Given the description of an element on the screen output the (x, y) to click on. 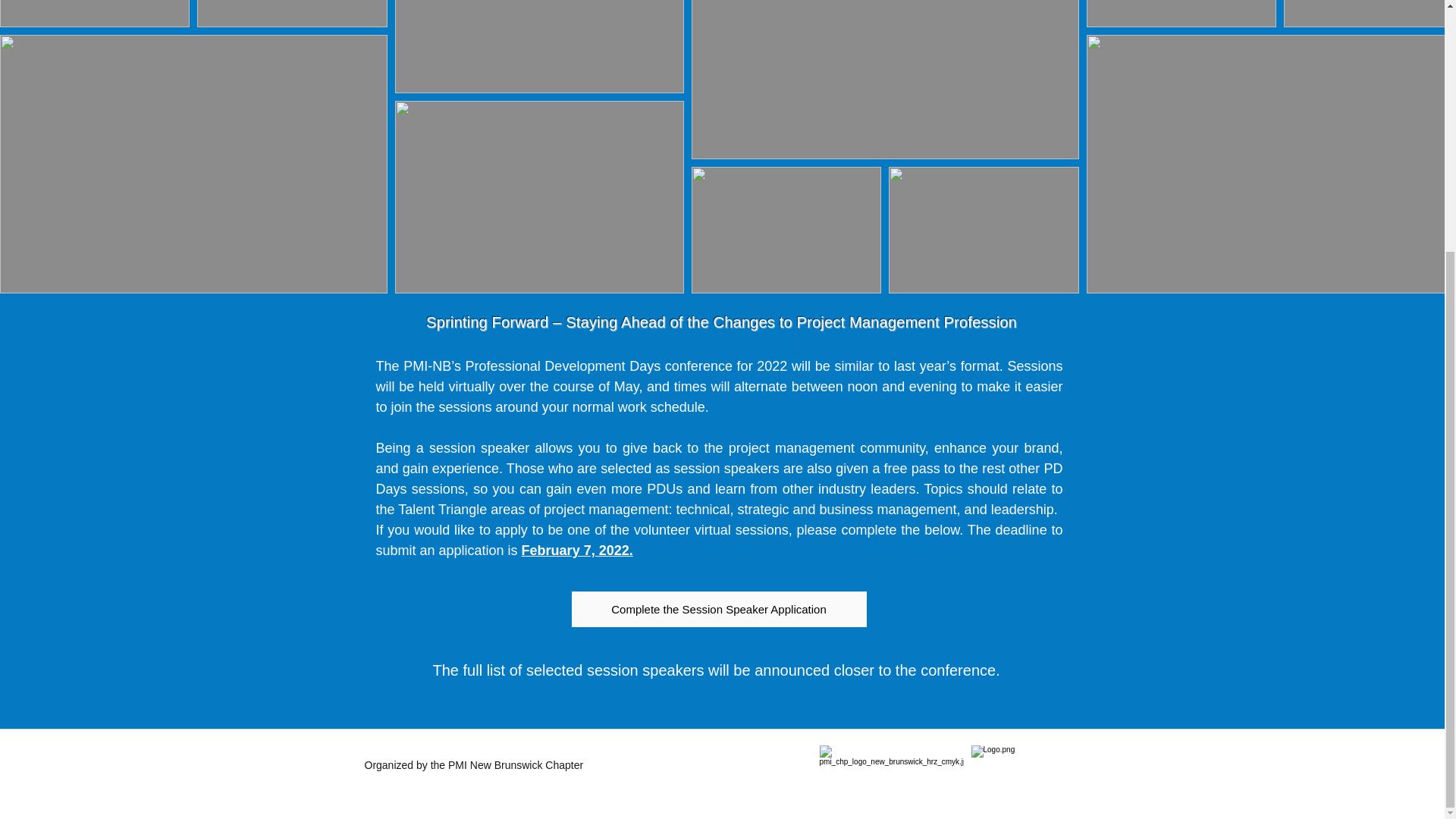
Complete the Session Speaker Application (719, 609)
